Given the description of an element on the screen output the (x, y) to click on. 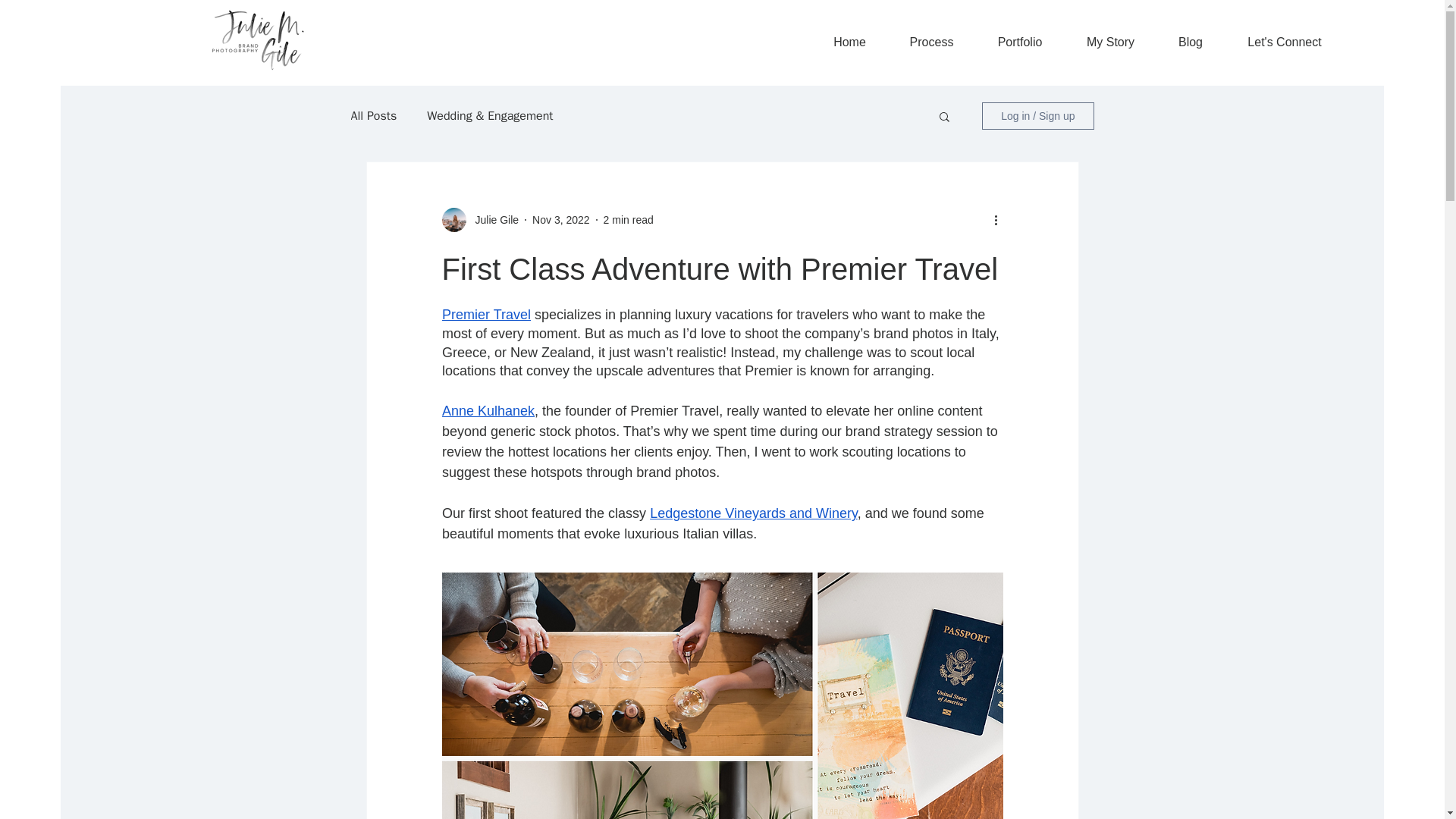
My Story (1110, 42)
Premier Travel (485, 314)
All Posts (373, 115)
Process (931, 42)
Let's Connect (1284, 42)
2 min read (628, 219)
Julie M Gile Photography Logo Blue.png (258, 41)
Julie Gile (491, 220)
Home (849, 42)
Nov 3, 2022 (560, 219)
